Given the description of an element on the screen output the (x, y) to click on. 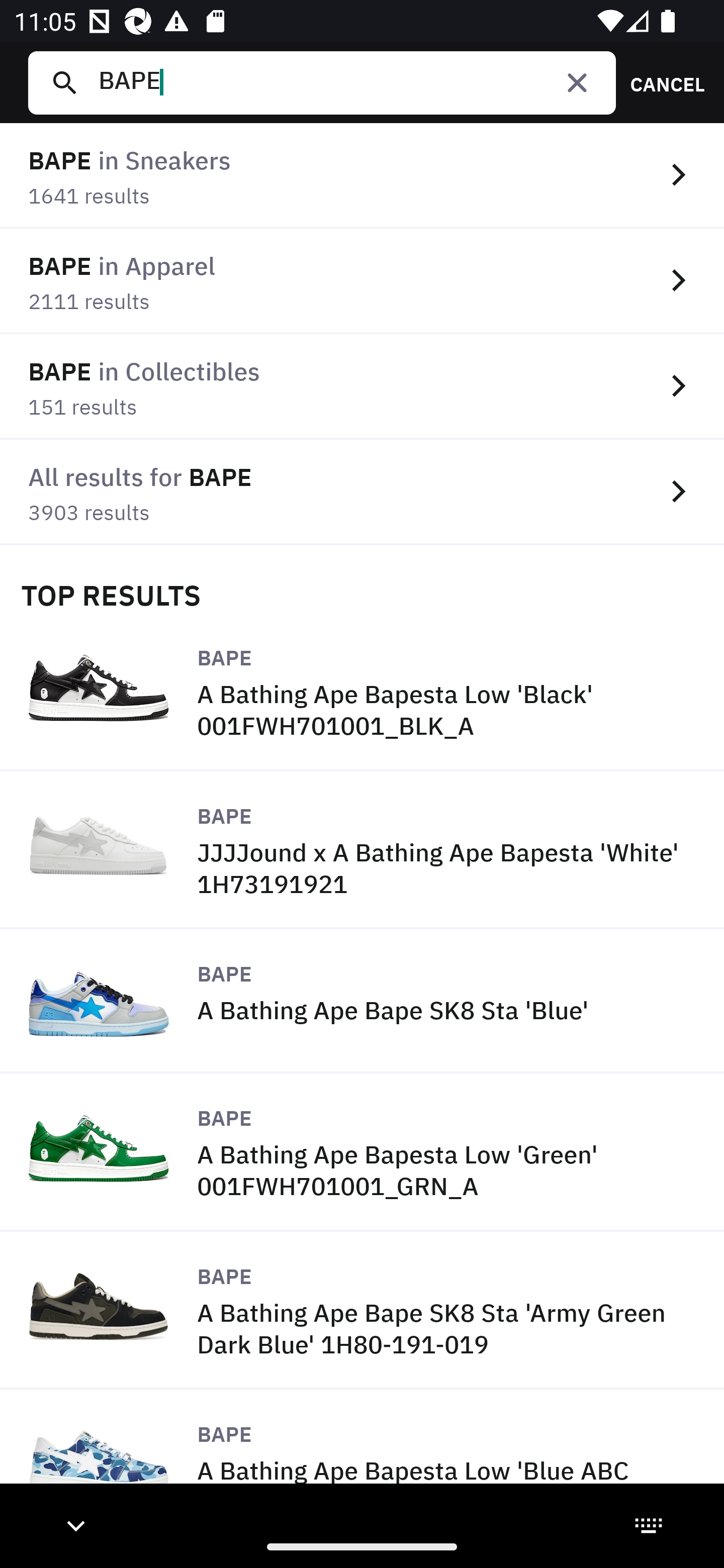
CANCEL (660, 82)
BAPE (349, 82)
 (577, 82)
BAPE  in Sneakers 1641 results  (362, 175)
BAPE  in Apparel 2111 results  (362, 280)
BAPE  in Collectibles 151 results  (362, 386)
All results for  BAPE 3903 results  (362, 492)
BAPE A Bathing Ape Bape SK8 Sta 'Blue' (362, 1001)
